Given the description of an element on the screen output the (x, y) to click on. 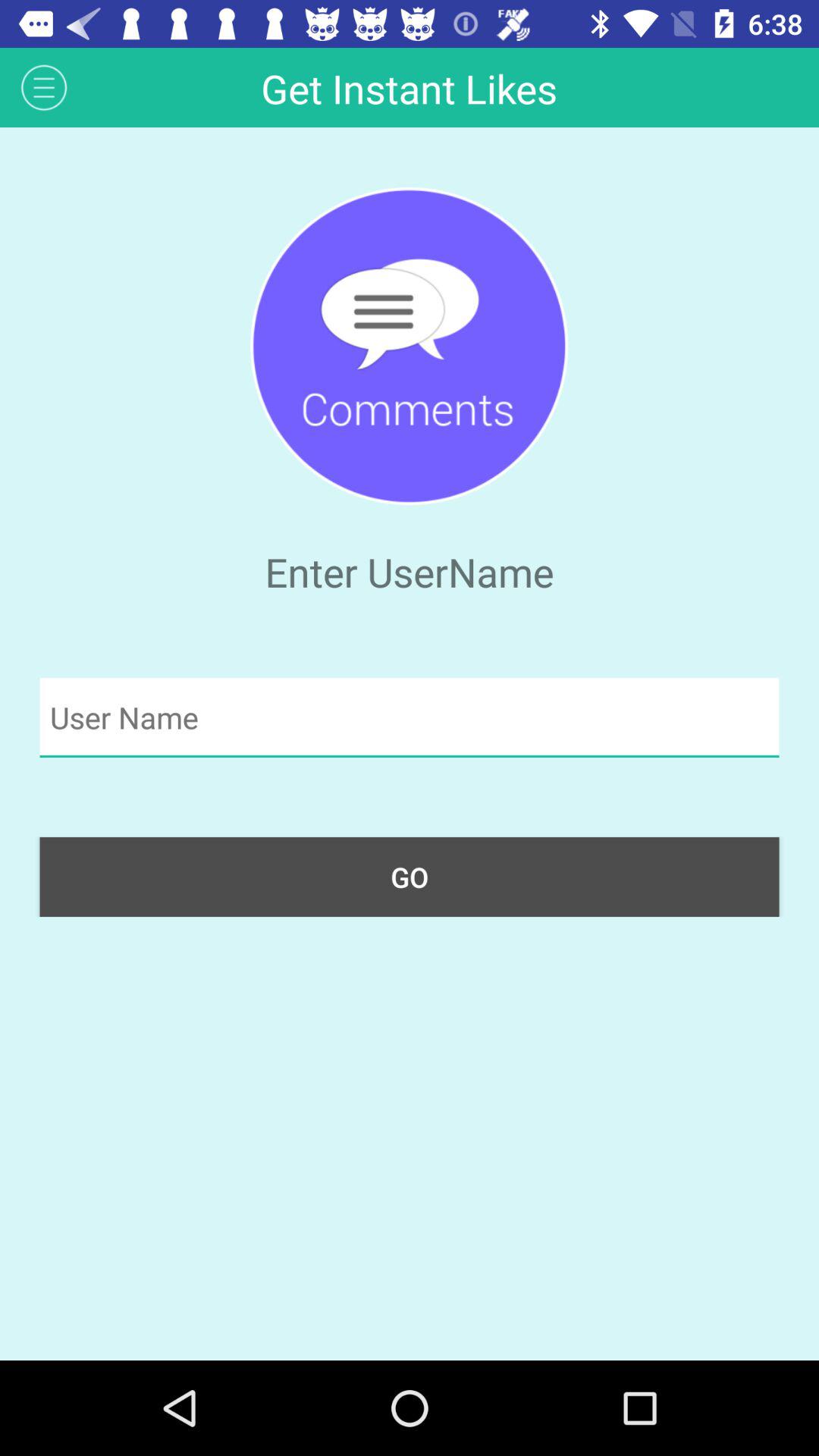
launch app next to get instant likes icon (44, 87)
